Given the description of an element on the screen output the (x, y) to click on. 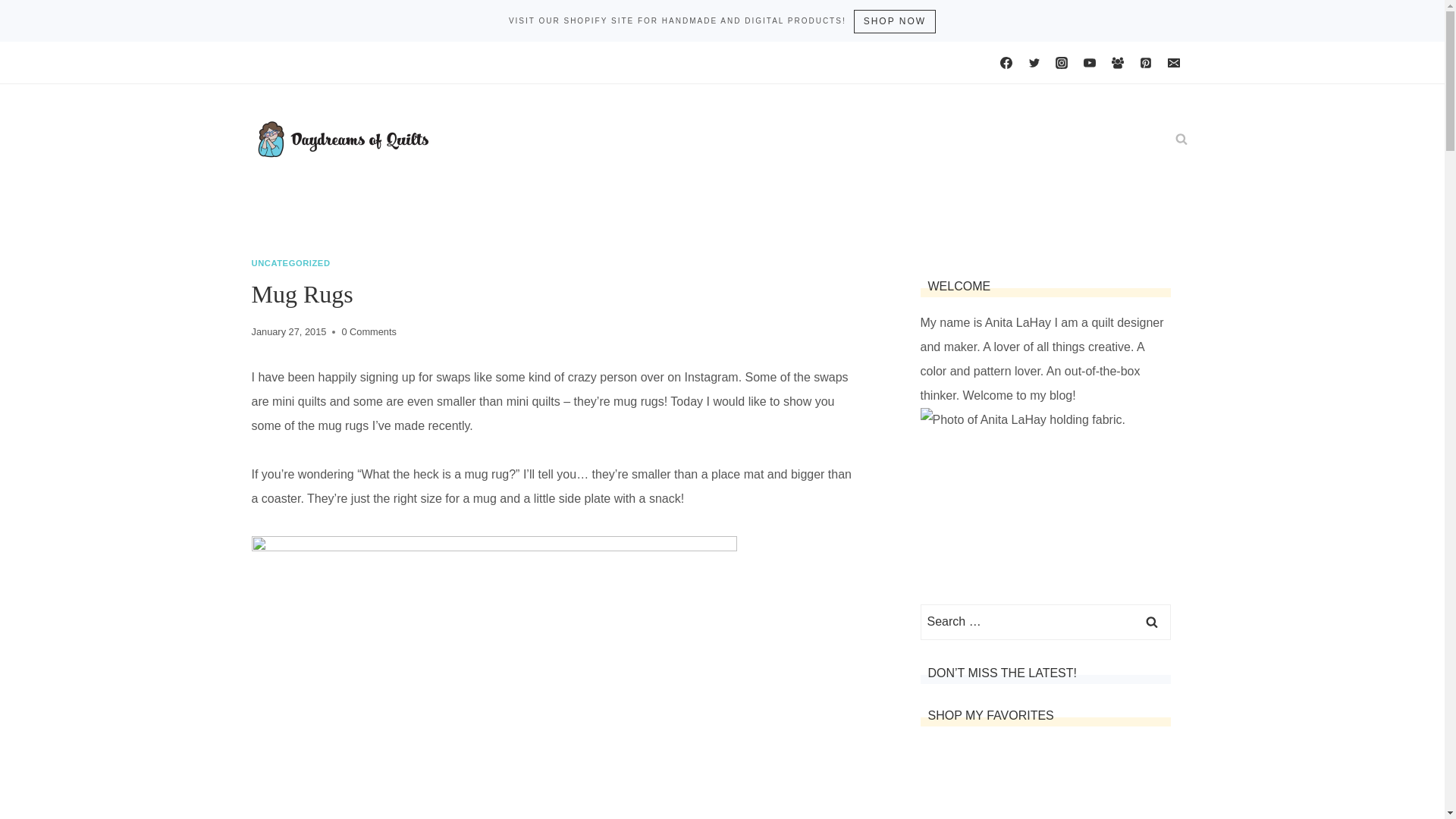
SHOP NOW (894, 21)
Search (1151, 621)
0 Comments (368, 332)
0 Comments (368, 332)
UNCATEGORIZED (290, 262)
Search (1151, 621)
